Given the description of an element on the screen output the (x, y) to click on. 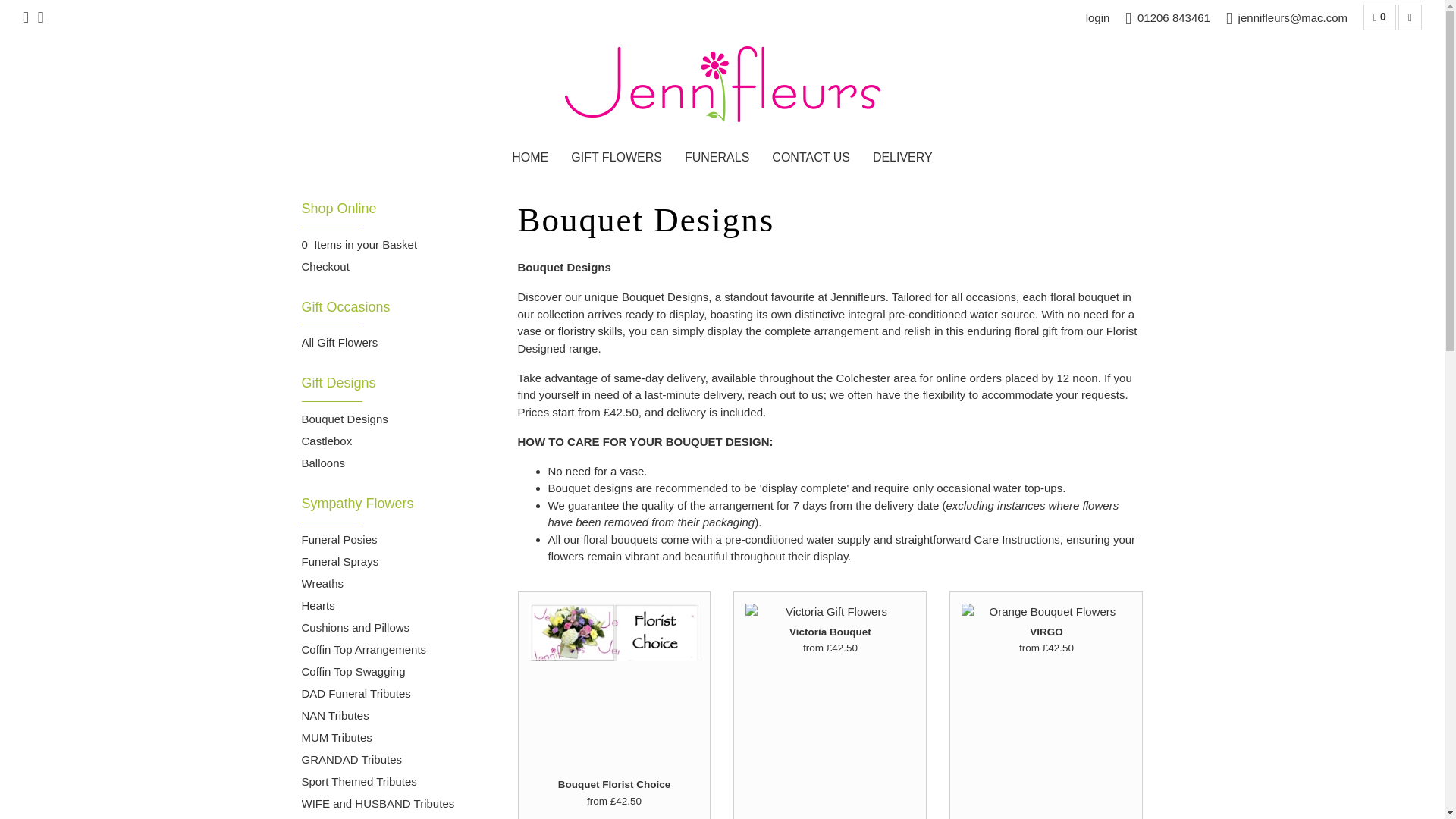
Funerals (716, 157)
Balloons (323, 463)
Checkout (325, 267)
DELIVERY (902, 157)
Funeral Sprays (339, 562)
HOME (529, 157)
GIFT FLOWERS (615, 157)
Delivery (902, 157)
0 (1379, 17)
CONTACT US (810, 157)
Gift Flowers (615, 157)
Balloons Designs (323, 463)
Checkout (325, 267)
Castlebox Designs (326, 441)
Contact Us (810, 157)
